Given the description of an element on the screen output the (x, y) to click on. 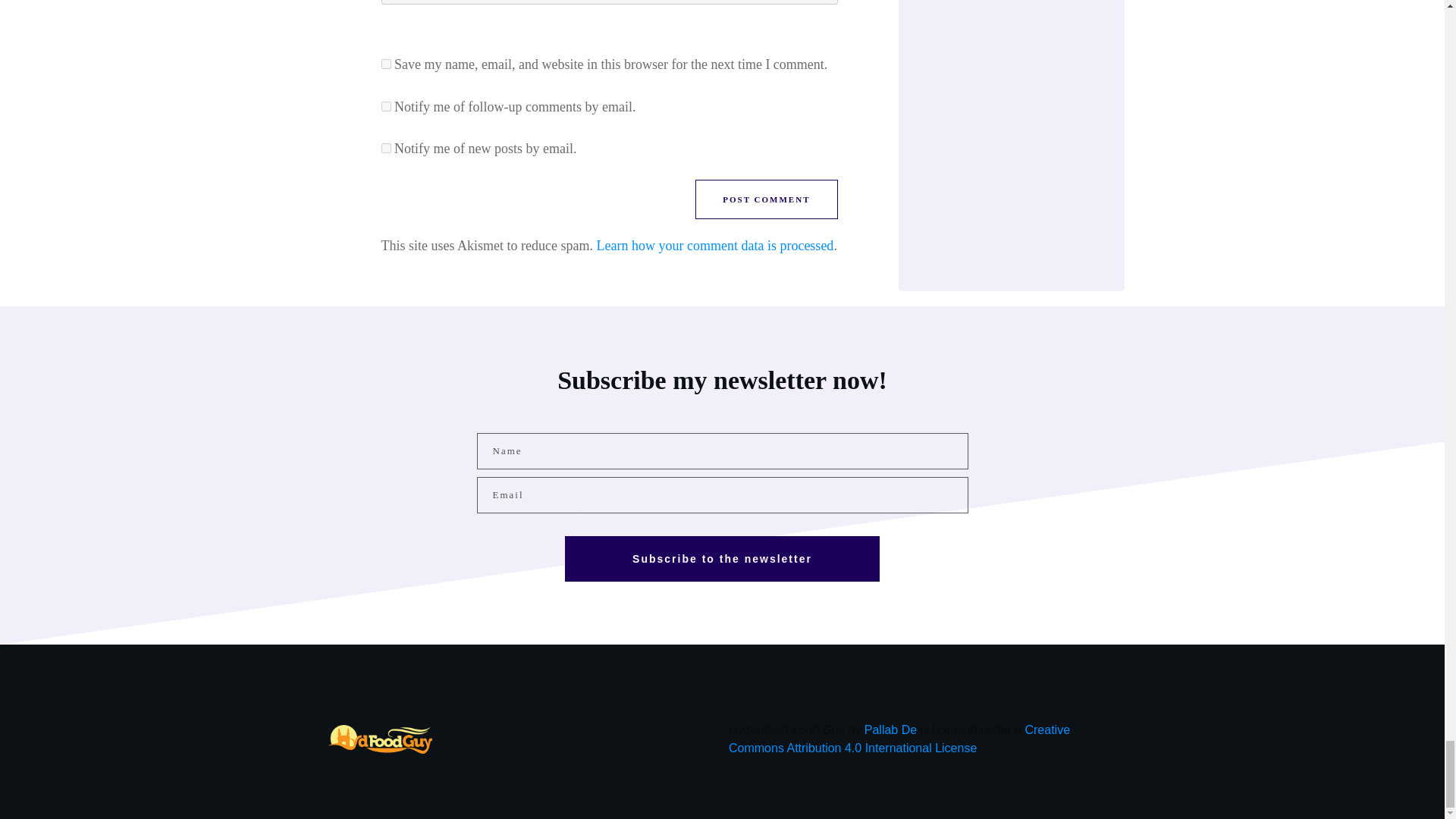
subscribe (385, 148)
subscribe (385, 106)
yes (385, 63)
